Given the description of an element on the screen output the (x, y) to click on. 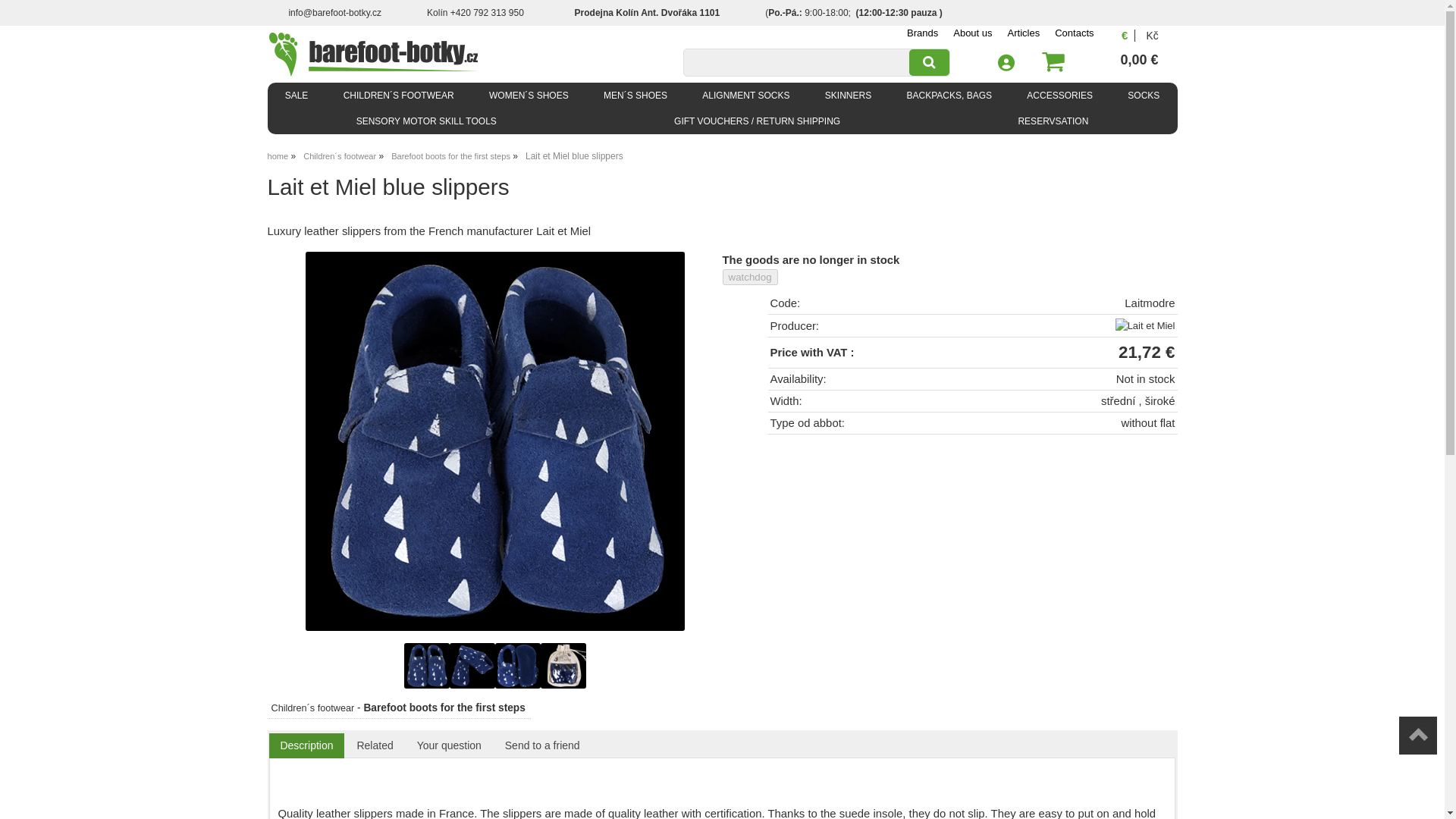
home (277, 155)
Articles (1024, 32)
SOCKS (1142, 95)
Cart Contents (1100, 60)
Change currency (1151, 35)
Brands (921, 32)
SALE (295, 95)
ALIGNMENT SOCKS (745, 95)
Contacts (1073, 32)
Lait et Miel (1144, 325)
BACKPACKS, BAGS (948, 95)
watchdog (749, 277)
SKINNERS (848, 95)
Related (374, 745)
